Given the description of an element on the screen output the (x, y) to click on. 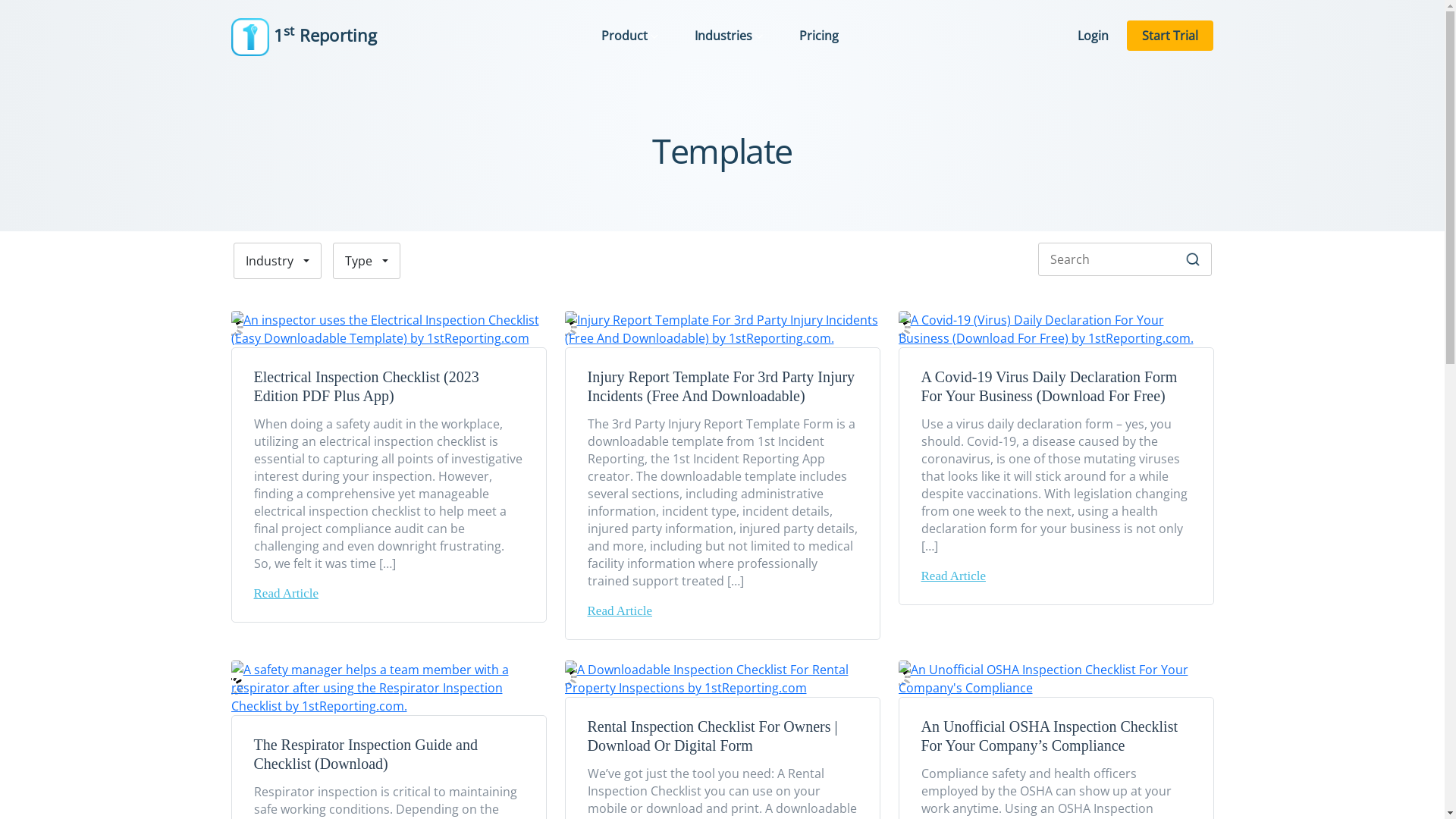
Industry Element type: text (277, 260)
Read Article Element type: text (952, 575)
The Respirator Inspection Guide and Checklist (Download) Element type: hover (388, 694)
1st Reporting Element type: text (303, 35)
Type Element type: text (366, 260)
Industries Element type: text (728, 35)
Electrical Inspection Checklist (2023 Edition PDF Plus App) Element type: hover (388, 331)
Product Element type: text (629, 35)
Login Element type: text (1092, 35)
Start Trial Element type: text (1169, 35)
Pricing Element type: text (818, 35)
Read Article Element type: text (618, 610)
Read Article Element type: text (285, 593)
